Given the description of an element on the screen output the (x, y) to click on. 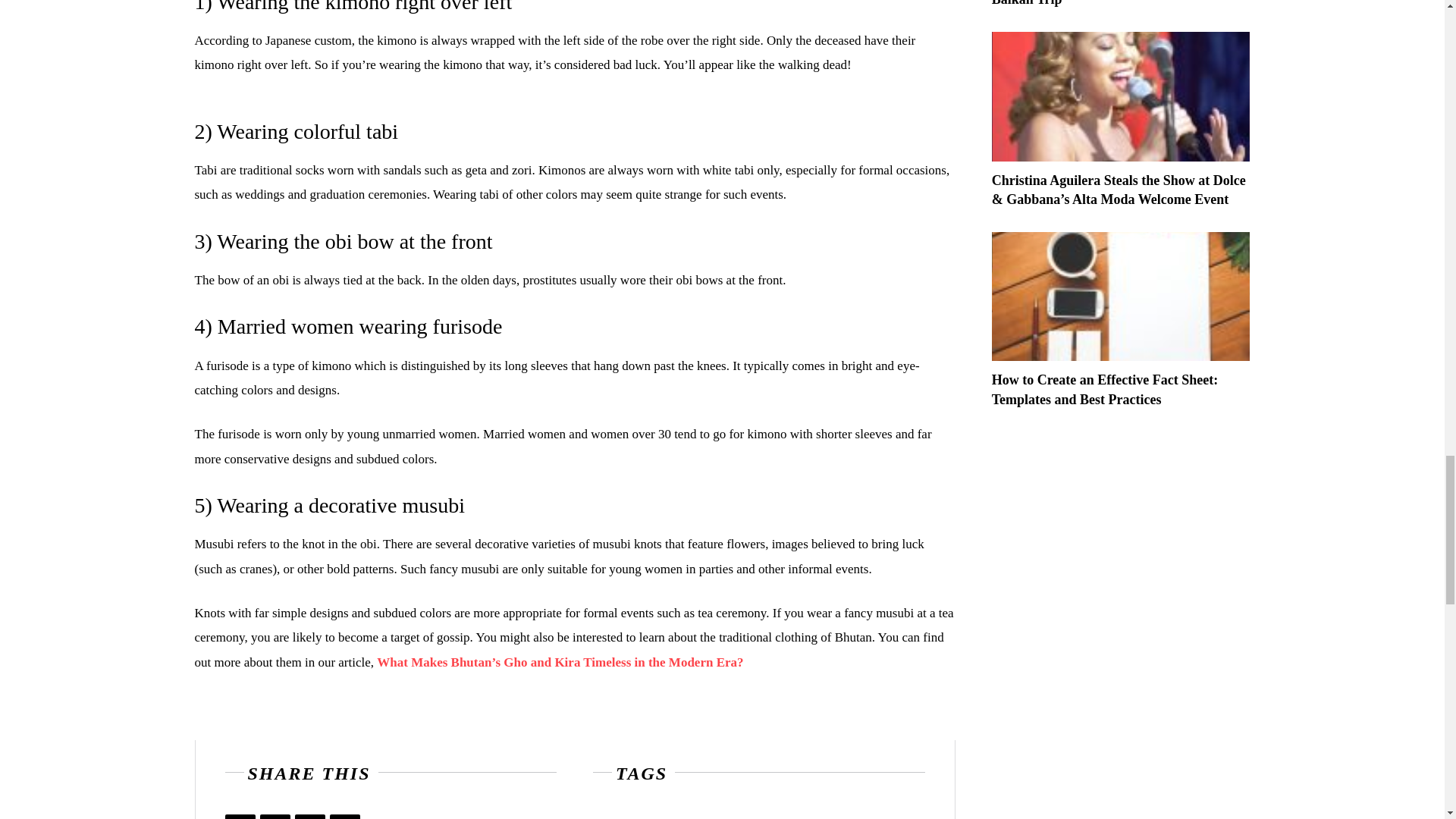
Pinterest (309, 816)
Facebook (239, 816)
Mix (344, 816)
Twitter (274, 816)
